Given the description of an element on the screen output the (x, y) to click on. 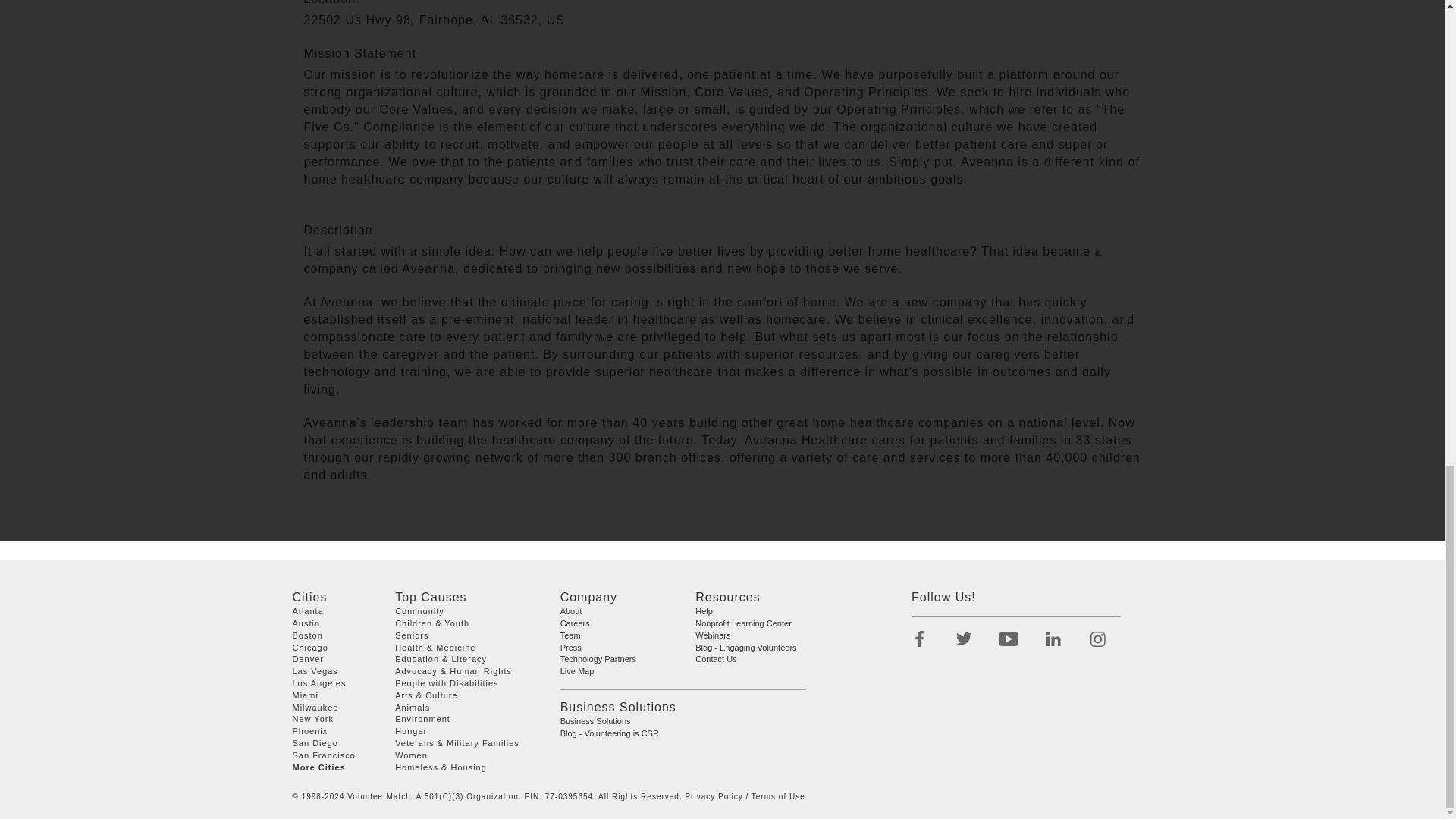
Atlanta (307, 610)
Austin (306, 623)
Boston (307, 634)
Denver (307, 658)
Chicago (310, 646)
Las Vegas (314, 670)
